Given the description of an element on the screen output the (x, y) to click on. 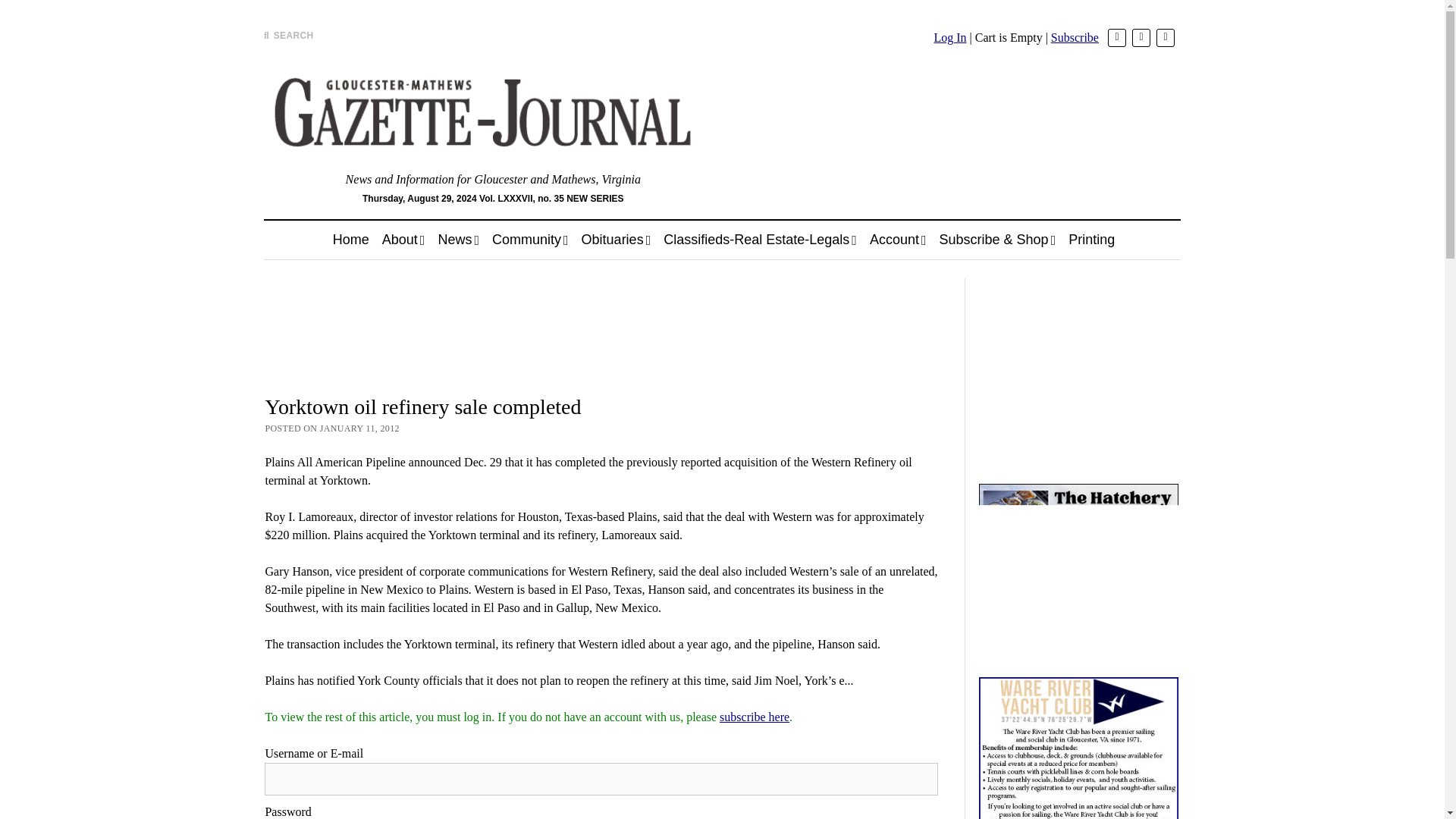
facebook (1141, 37)
instagram (1165, 37)
Search (945, 129)
SEARCH (288, 35)
twitter (1116, 37)
Community (530, 239)
About (402, 239)
Subscribe (1075, 37)
Obituaries (616, 239)
Home (350, 239)
